Given the description of an element on the screen output the (x, y) to click on. 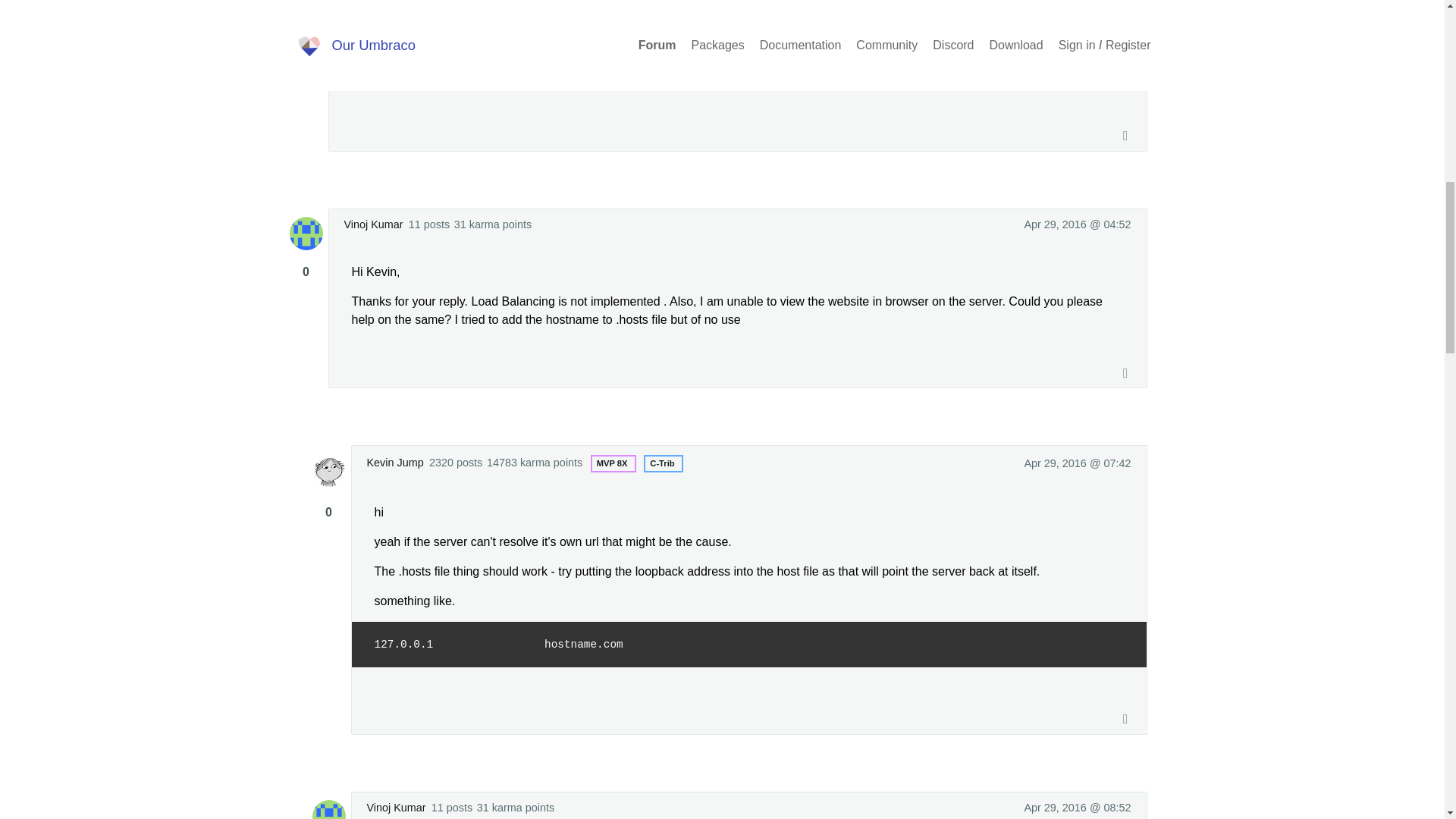
Vinoj Kumar (373, 224)
Kevin Jump (394, 462)
Vinoj Kumar (396, 807)
C-Trib (661, 463)
MVP 8X (611, 463)
